Given the description of an element on the screen output the (x, y) to click on. 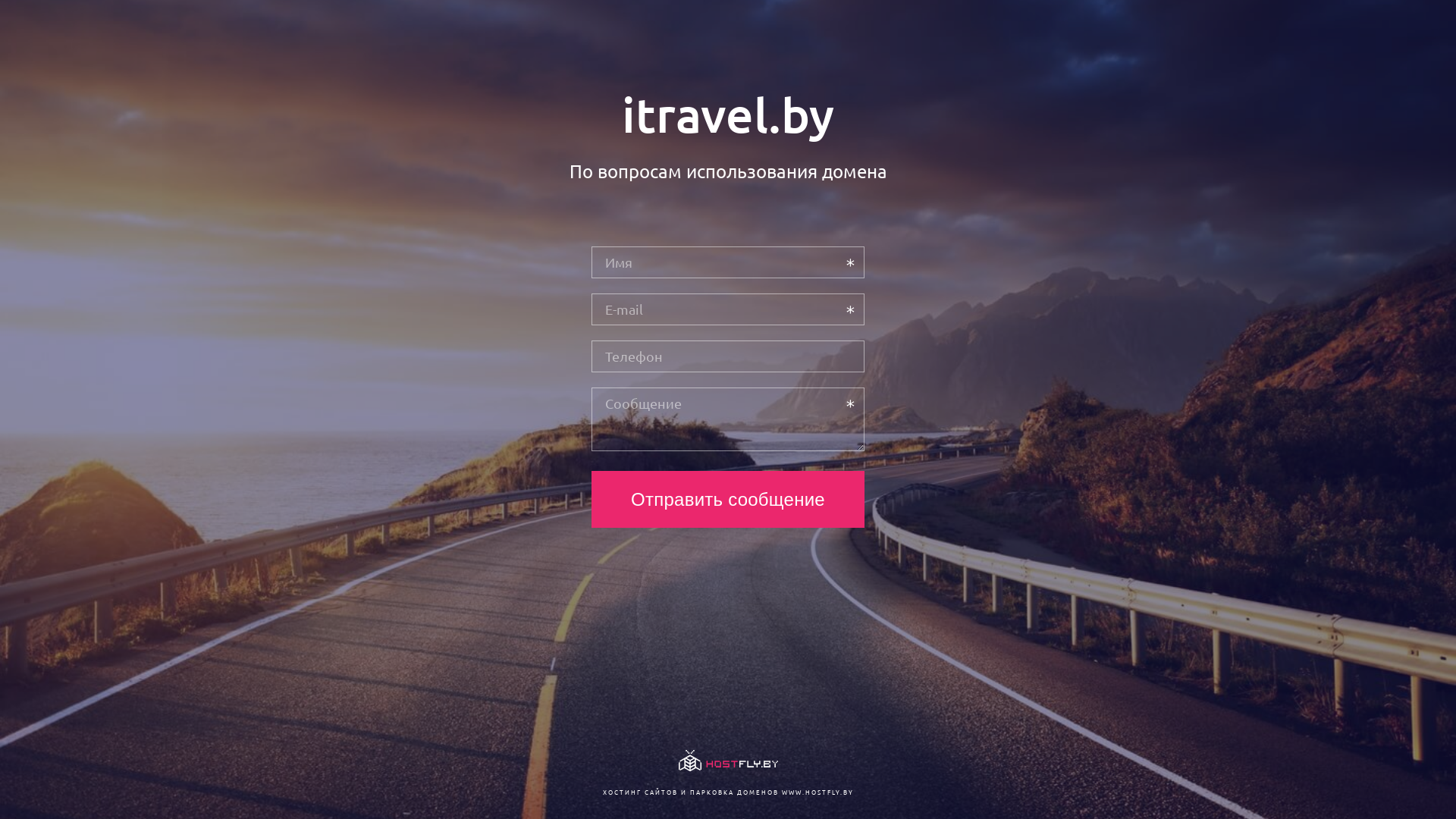
WWW.HOSTFLY.BY Element type: text (817, 791)
